Given the description of an element on the screen output the (x, y) to click on. 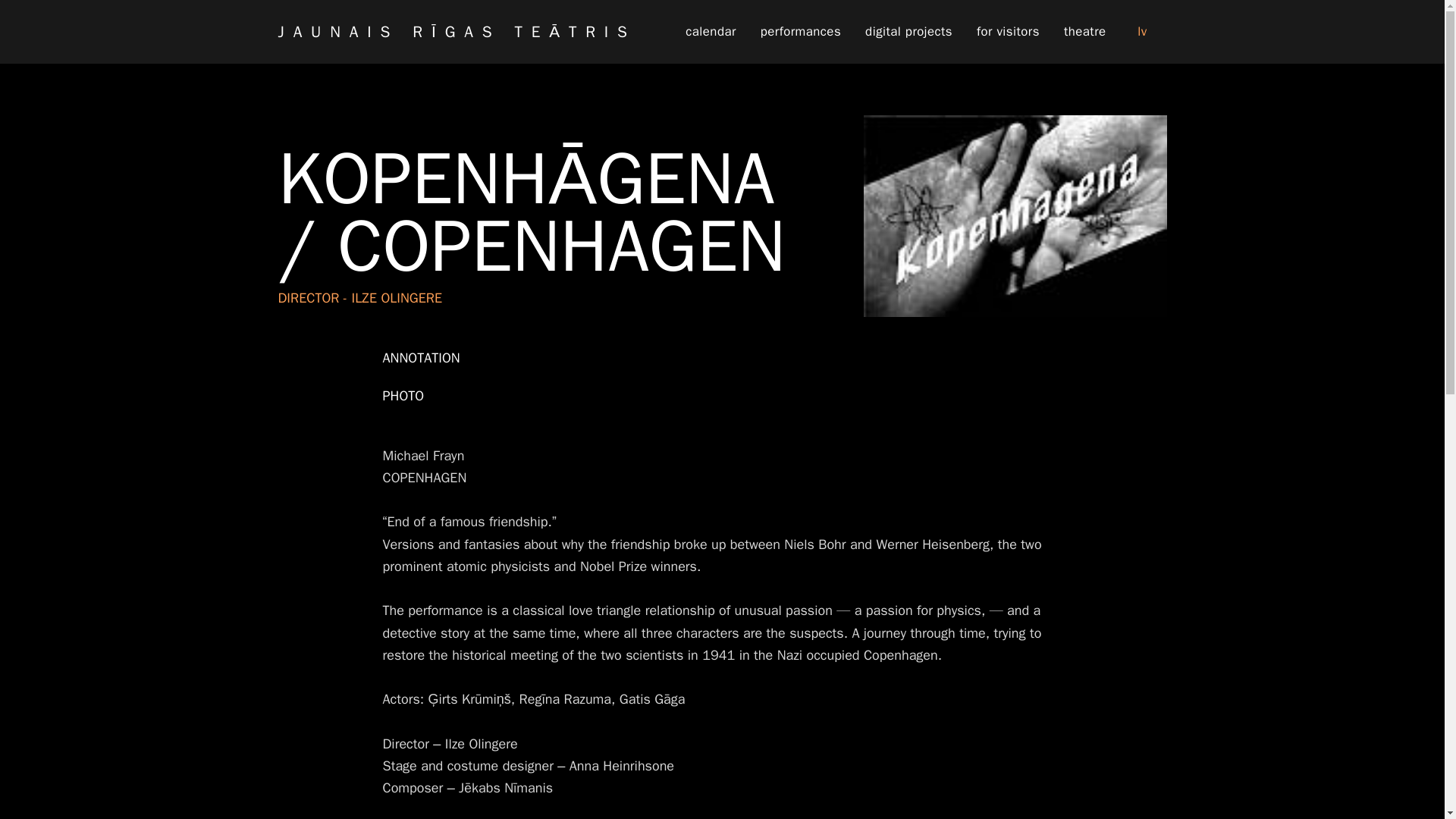
calendar (710, 31)
performances (800, 31)
for visitors (1007, 31)
theatre (1084, 31)
digital projects (908, 31)
